Given the description of an element on the screen output the (x, y) to click on. 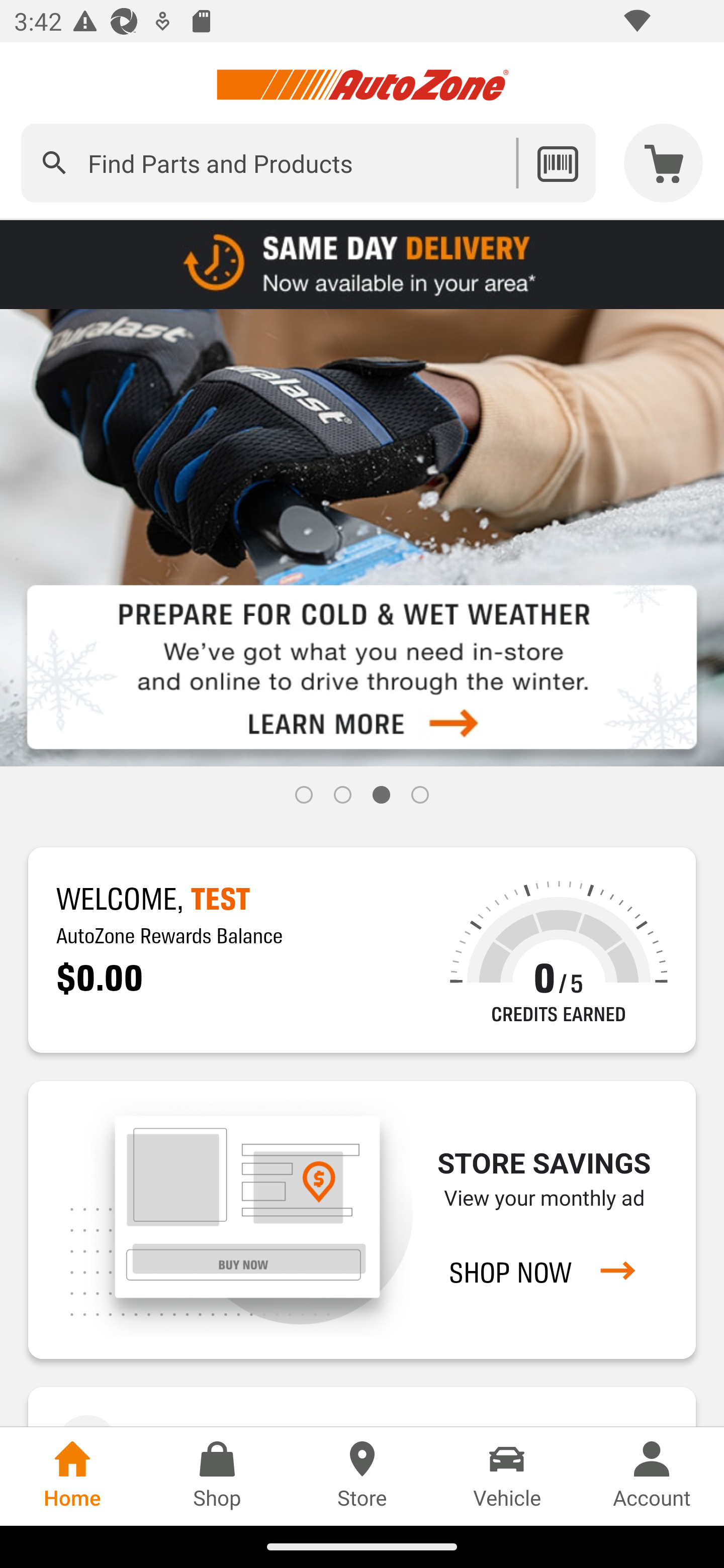
 scan-product-to-search  (557, 162)
 (54, 163)
Cart, no items  (663, 162)
Same Day Delivery - now available in your area* (362, 262)
Home (72, 1475)
Shop (216, 1475)
Store (361, 1475)
Vehicle (506, 1475)
Account (651, 1475)
